Given the description of an element on the screen output the (x, y) to click on. 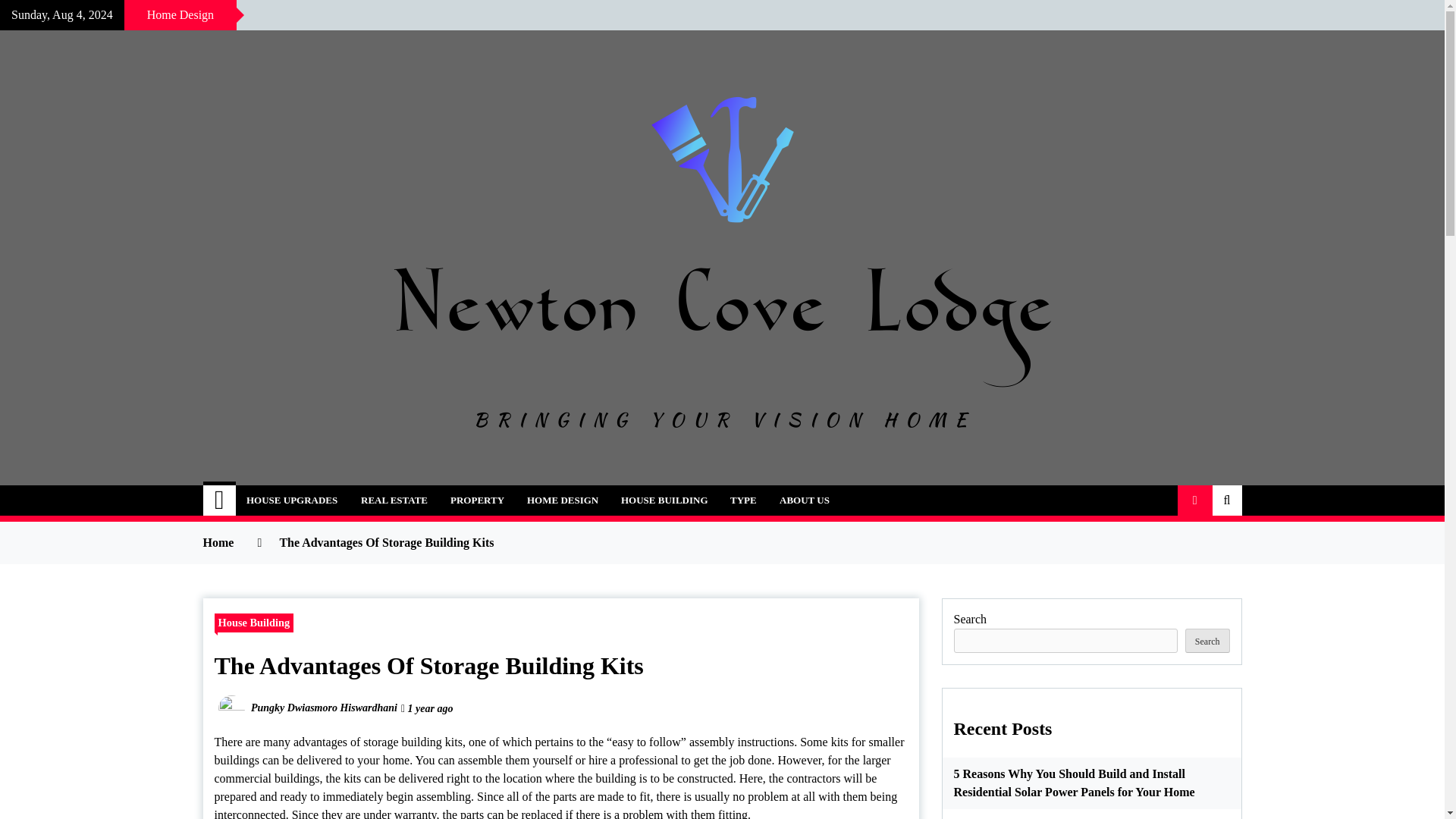
HOUSE BUILDING (664, 500)
HOUSE UPGRADES (291, 500)
PROPERTY (477, 500)
Home (219, 500)
REAL ESTATE (394, 500)
ABOUT US (804, 500)
TYPE (743, 500)
HOME DESIGN (562, 500)
Newton Cove Lodge (354, 491)
